Given the description of an element on the screen output the (x, y) to click on. 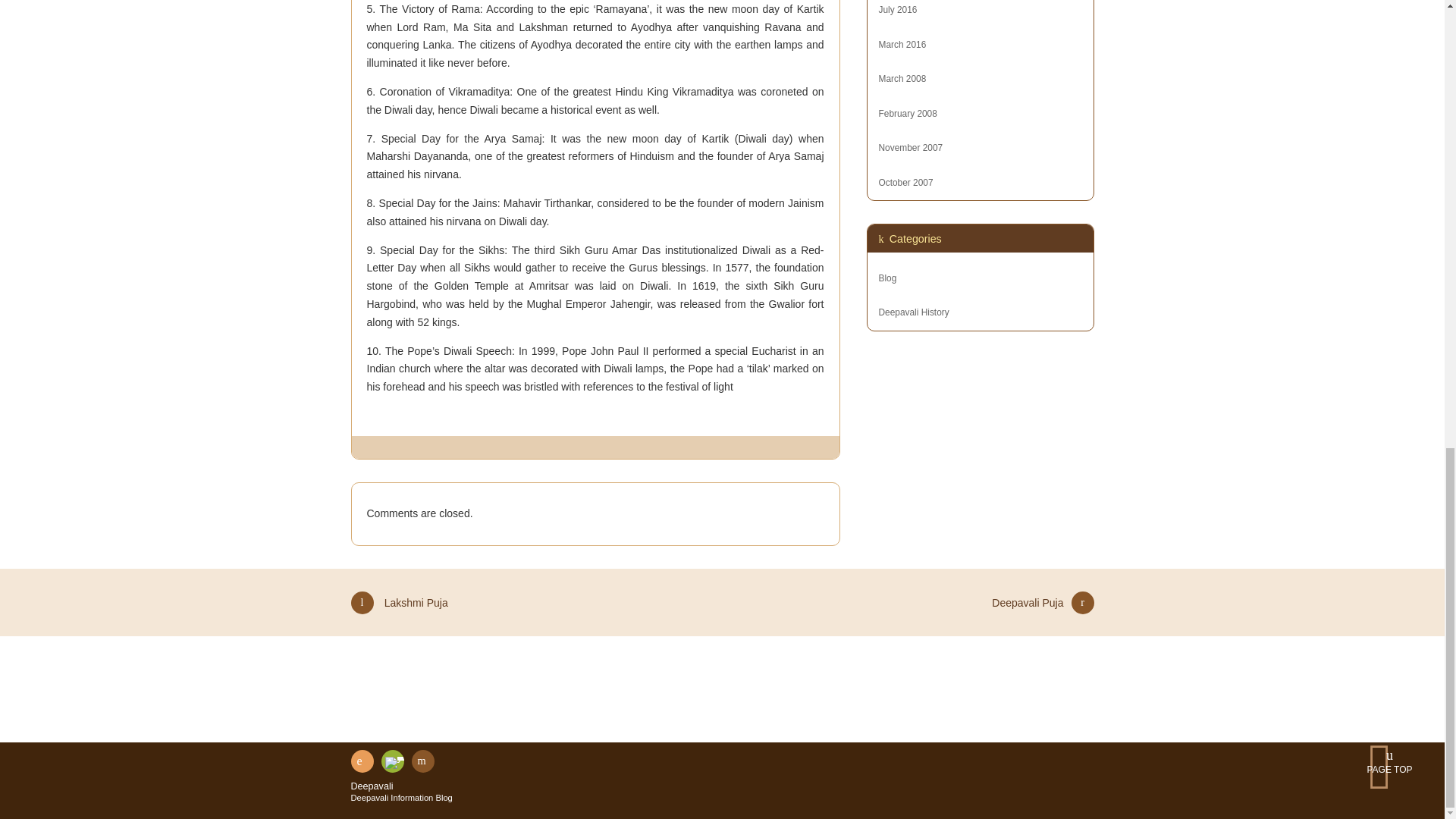
RSS (361, 761)
July 2016 (897, 9)
RSS (361, 761)
Blog (886, 277)
Deepavali Information Blog (400, 797)
March 2008 (901, 78)
February 2008 (906, 113)
October 2007 (905, 182)
Deepavali History (913, 312)
Deepavali Puja (1042, 610)
